Given the description of an element on the screen output the (x, y) to click on. 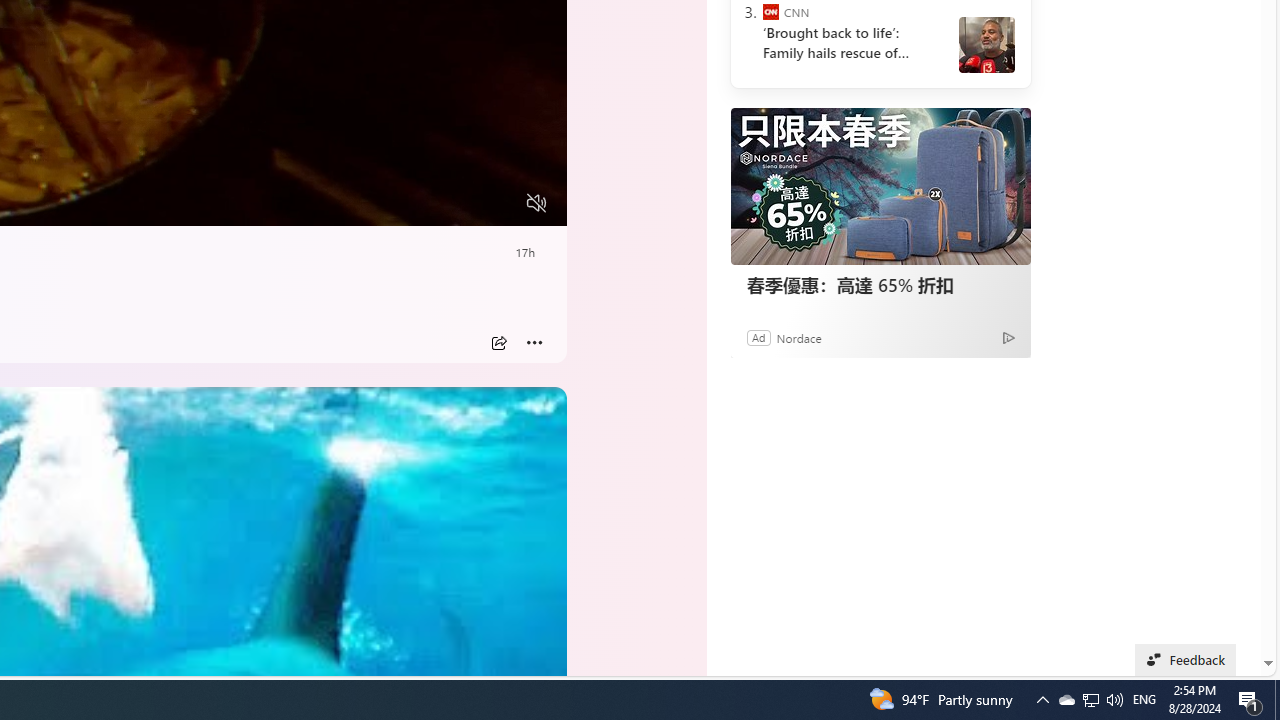
Fullscreen (497, 203)
Quality Settings (418, 203)
Unmute (535, 203)
